Given the description of an element on the screen output the (x, y) to click on. 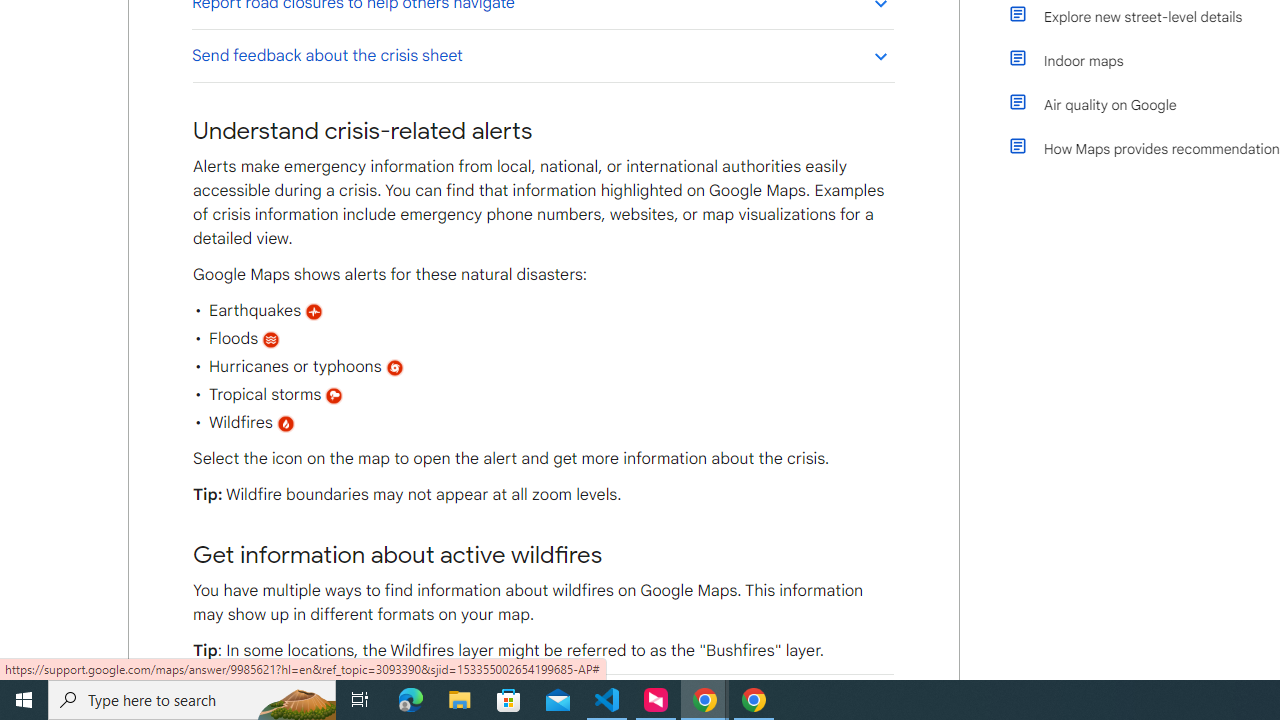
Send feedback about the crisis sheet (542, 55)
